Given the description of an element on the screen output the (x, y) to click on. 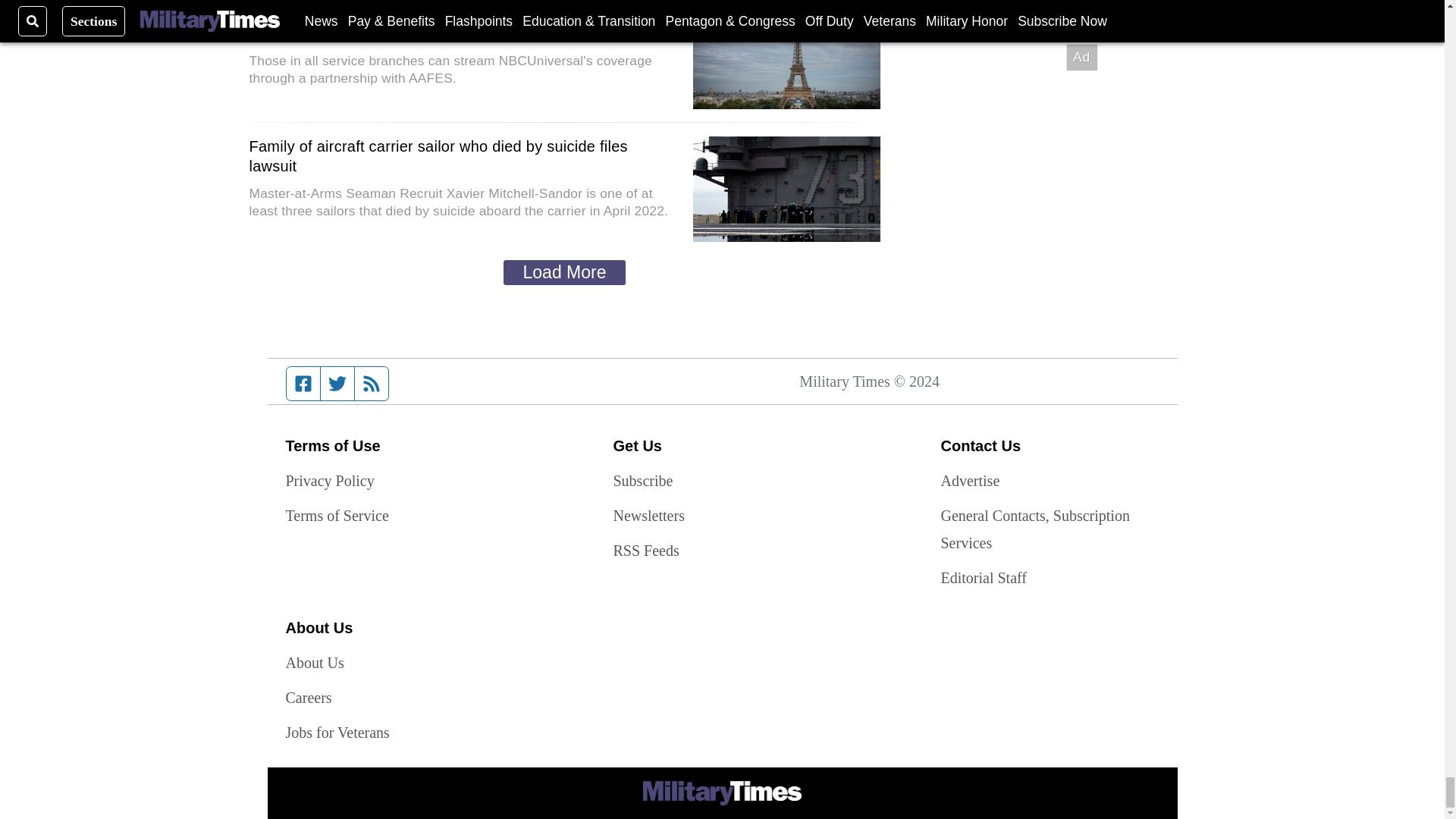
Twitter feed (336, 383)
RSS feed (371, 383)
Facebook page (303, 383)
